Given the description of an element on the screen output the (x, y) to click on. 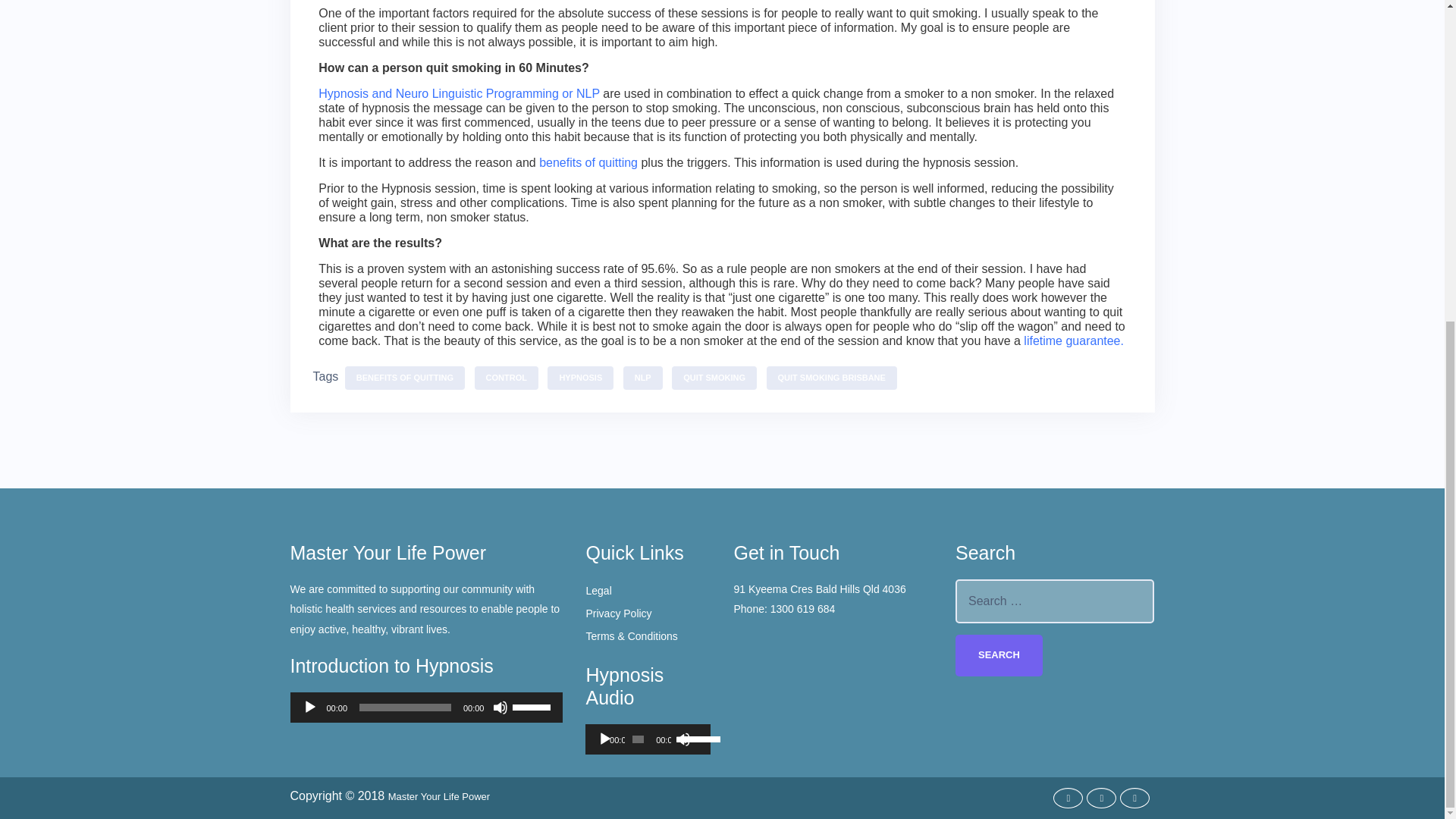
 benefits of quitting (586, 162)
Mute (500, 707)
Play (604, 739)
Why Stop Smoking (586, 162)
Master Your Life Power on Linkedin (1134, 797)
HYPNOSIS (579, 377)
lifetime guarantee. (1073, 340)
BENEFITS OF QUITTING (404, 377)
CONTROL (506, 377)
Help me to Stop Smoking (1073, 340)
QUIT SMOKING (714, 377)
Search (998, 655)
Master Your Life Power on X Twitter (1101, 797)
Hypnosis and Neuro Linguistic Programming or NLP  (460, 92)
Search (998, 655)
